Given the description of an element on the screen output the (x, y) to click on. 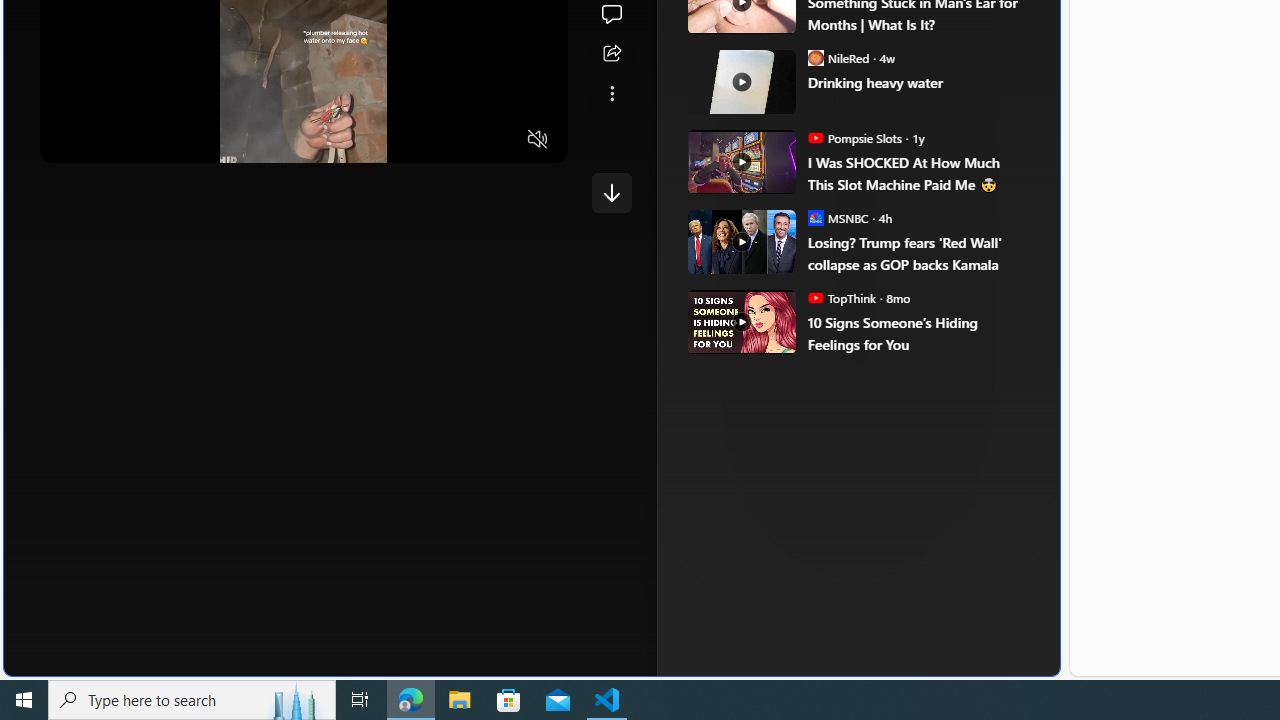
ABC News (760, 12)
Share this story (611, 53)
Quality Settings (419, 139)
TopThink TopThink (841, 298)
Forge of Empires (810, 337)
Share this story (611, 53)
Seek Forward (150, 139)
